Given the description of an element on the screen output the (x, y) to click on. 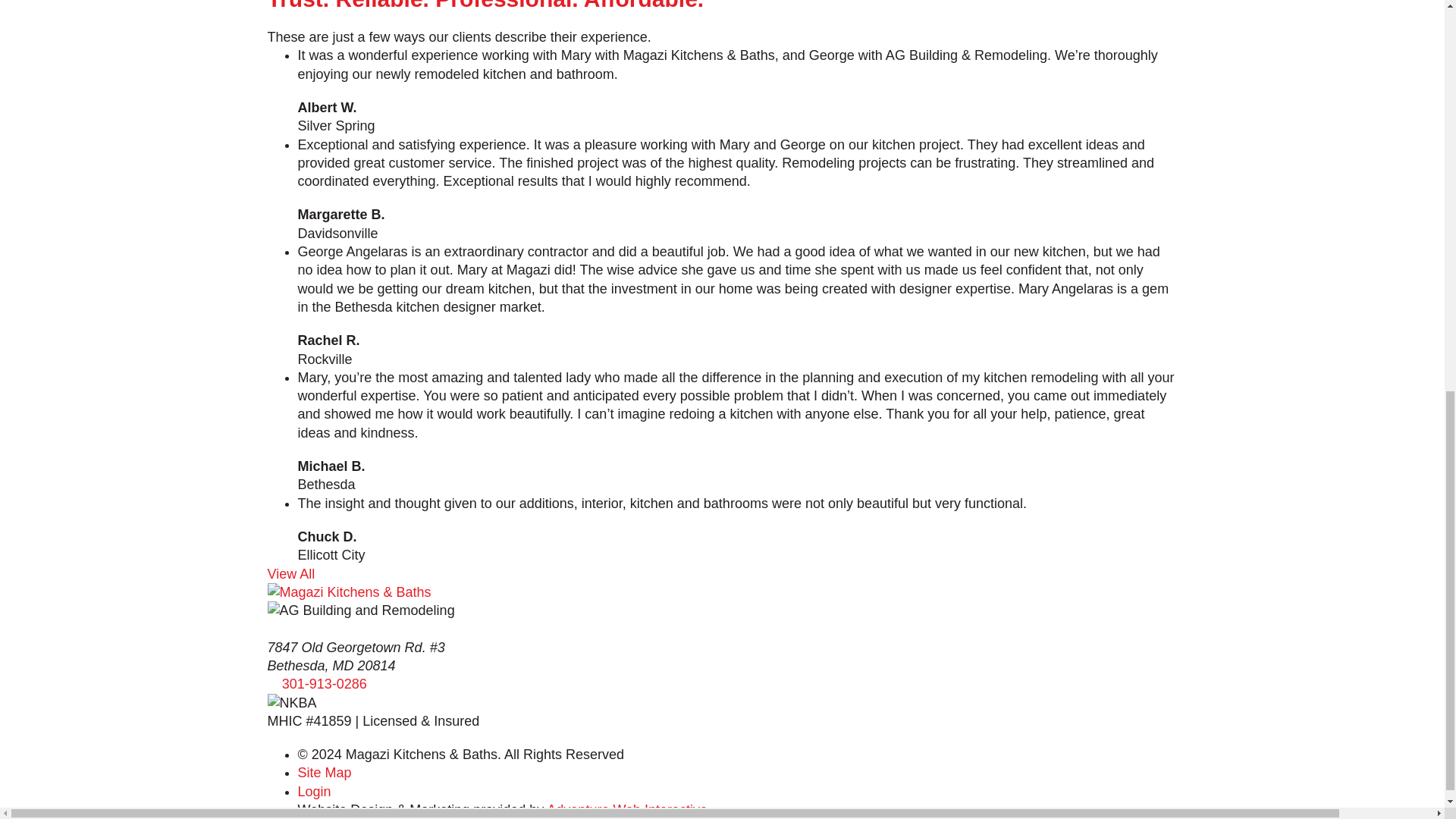
View All (290, 573)
NKBA (290, 702)
AG Building and Remodeling (360, 610)
